Given the description of an element on the screen output the (x, y) to click on. 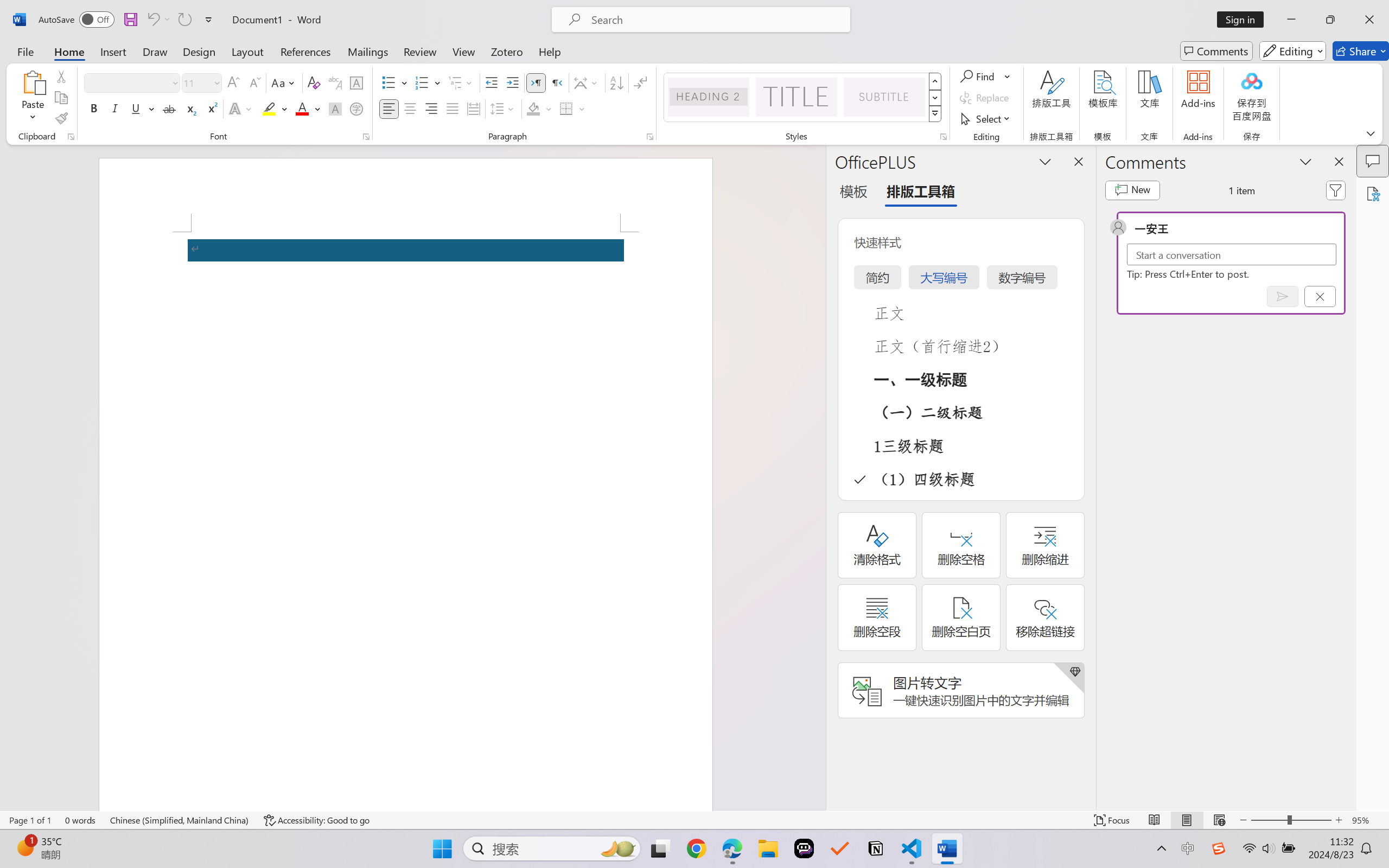
Editing (1292, 50)
